Given the description of an element on the screen output the (x, y) to click on. 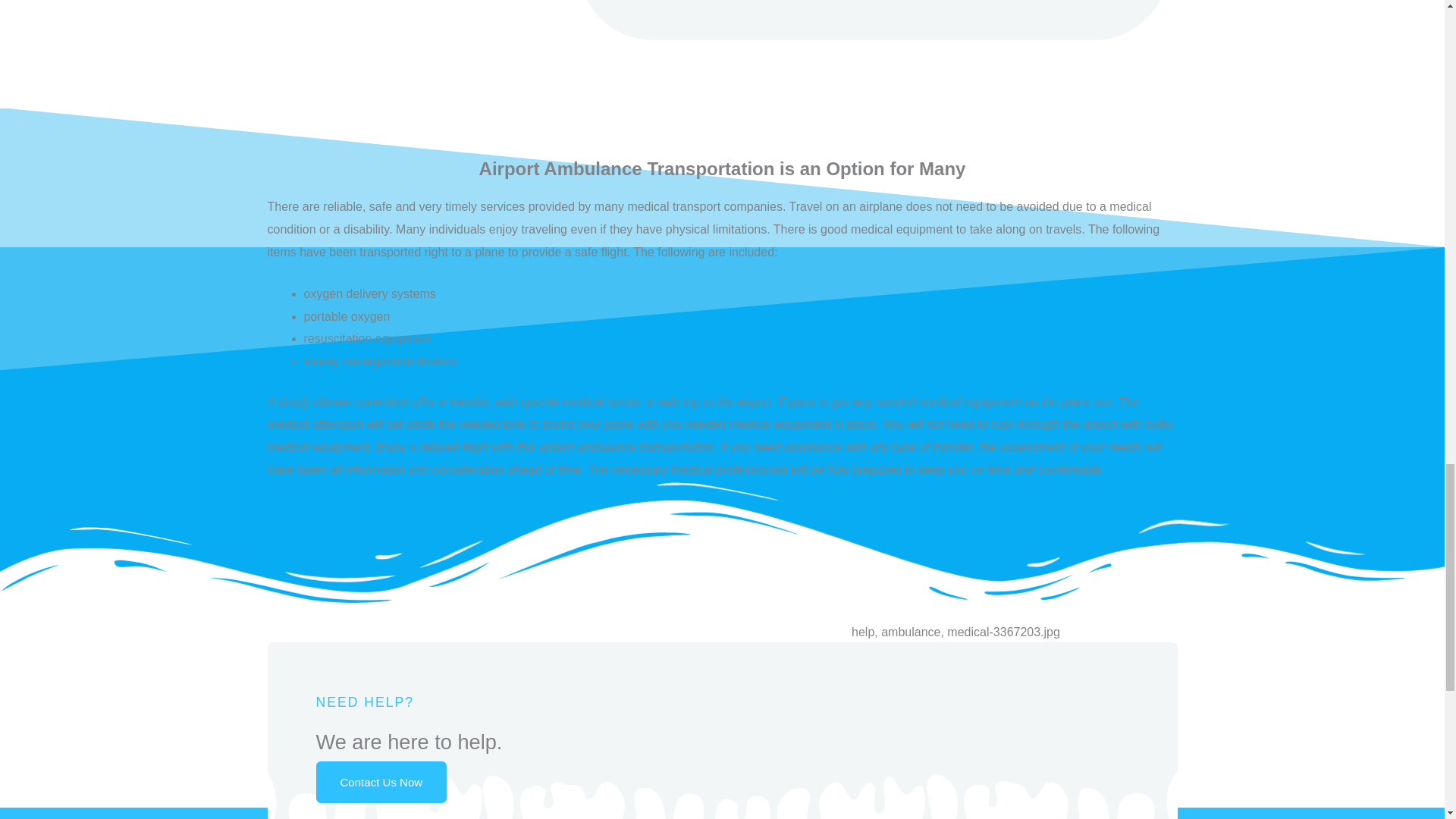
Contact Us Now (380, 782)
